Given the description of an element on the screen output the (x, y) to click on. 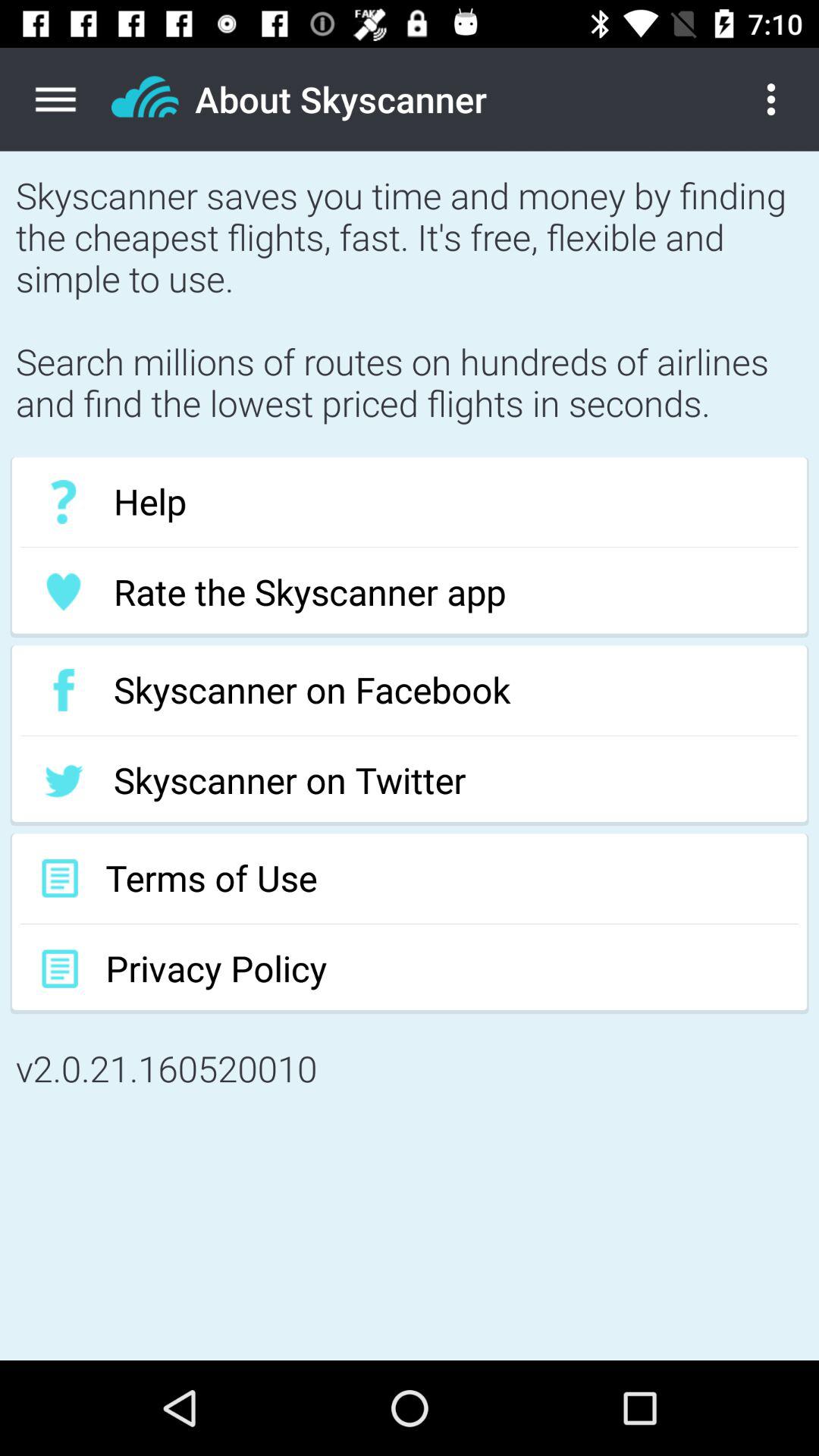
tap item below terms of use icon (409, 969)
